Given the description of an element on the screen output the (x, y) to click on. 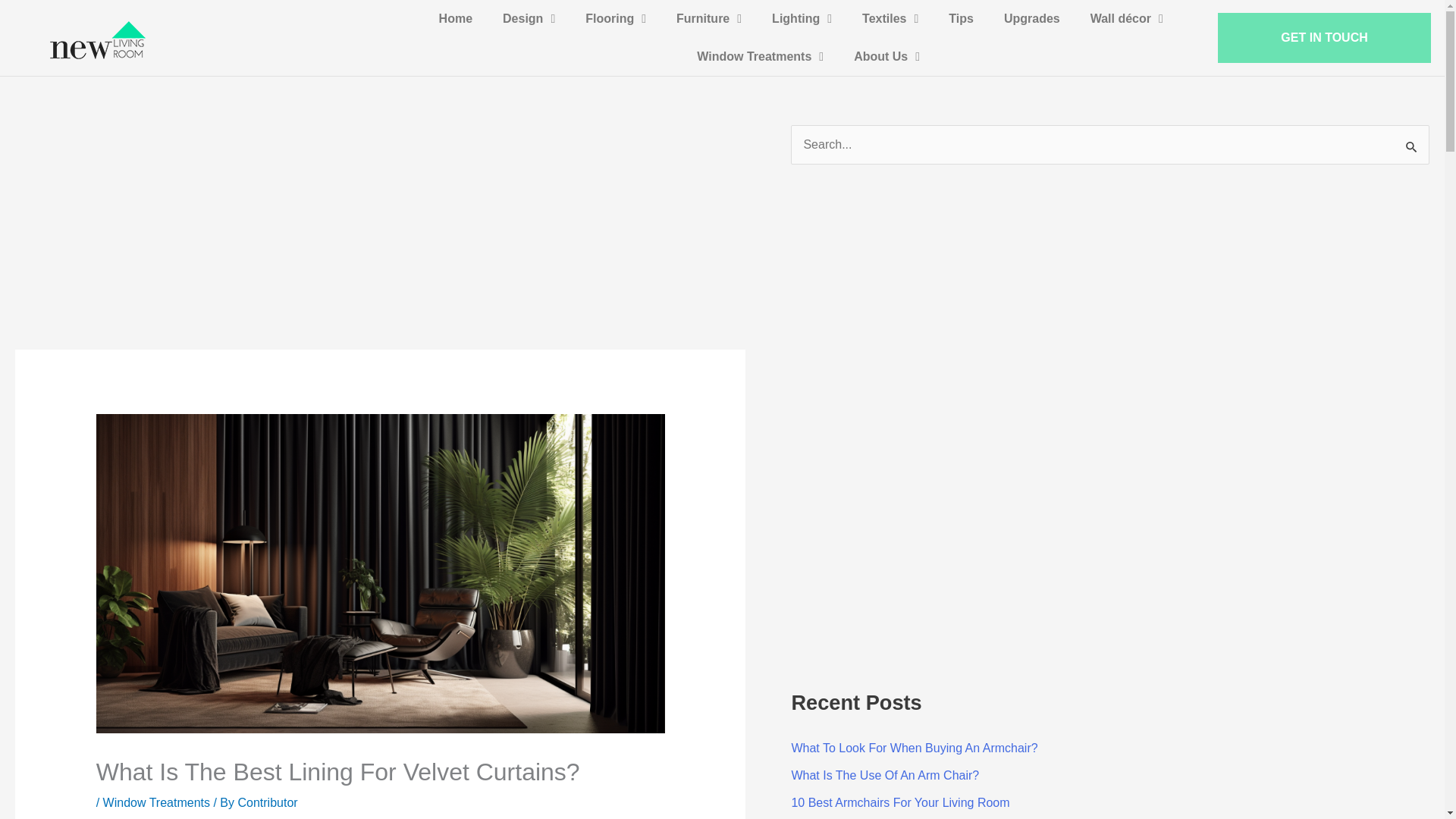
Design (528, 18)
About Us (886, 56)
Tips (960, 18)
Lighting (802, 18)
Flooring (615, 18)
Window Treatments (759, 56)
Textiles (890, 18)
View all posts by Contributor (267, 802)
Furniture (708, 18)
Home (455, 18)
Upgrades (1031, 18)
